Given the description of an element on the screen output the (x, y) to click on. 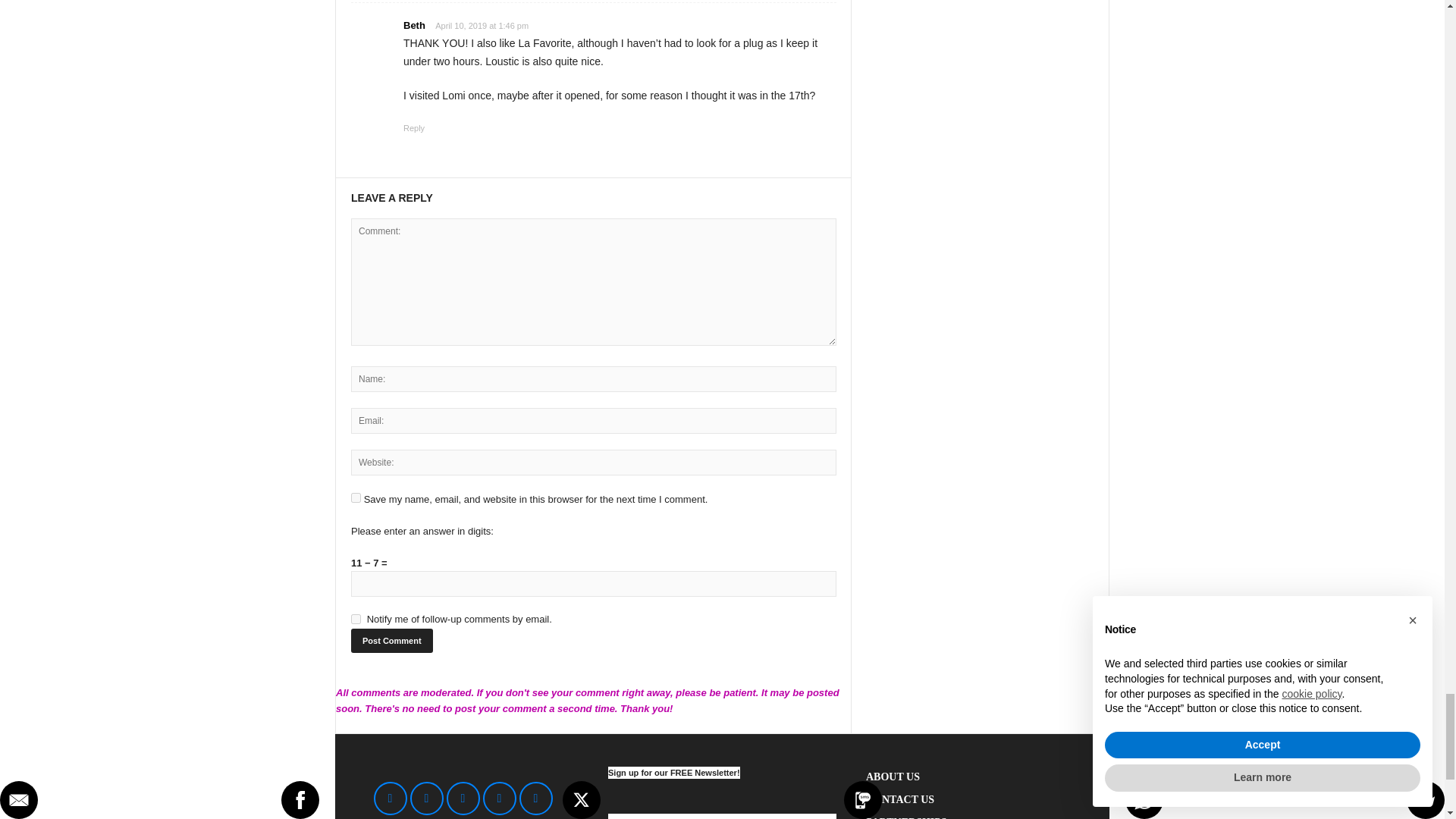
yes (355, 497)
Post Comment (391, 640)
subscribe (355, 619)
